Given the description of an element on the screen output the (x, y) to click on. 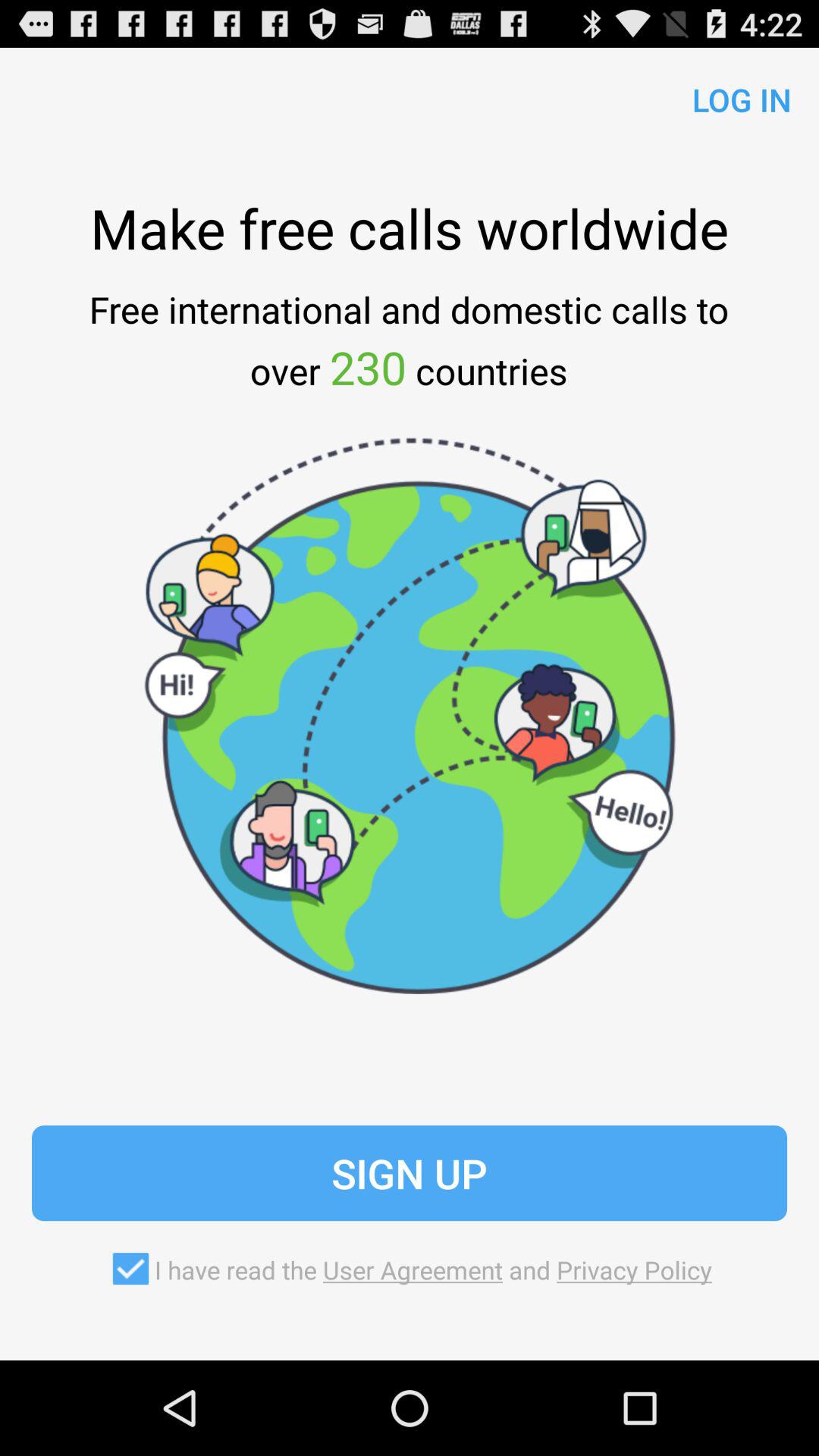
click i have read item (409, 1268)
